Given the description of an element on the screen output the (x, y) to click on. 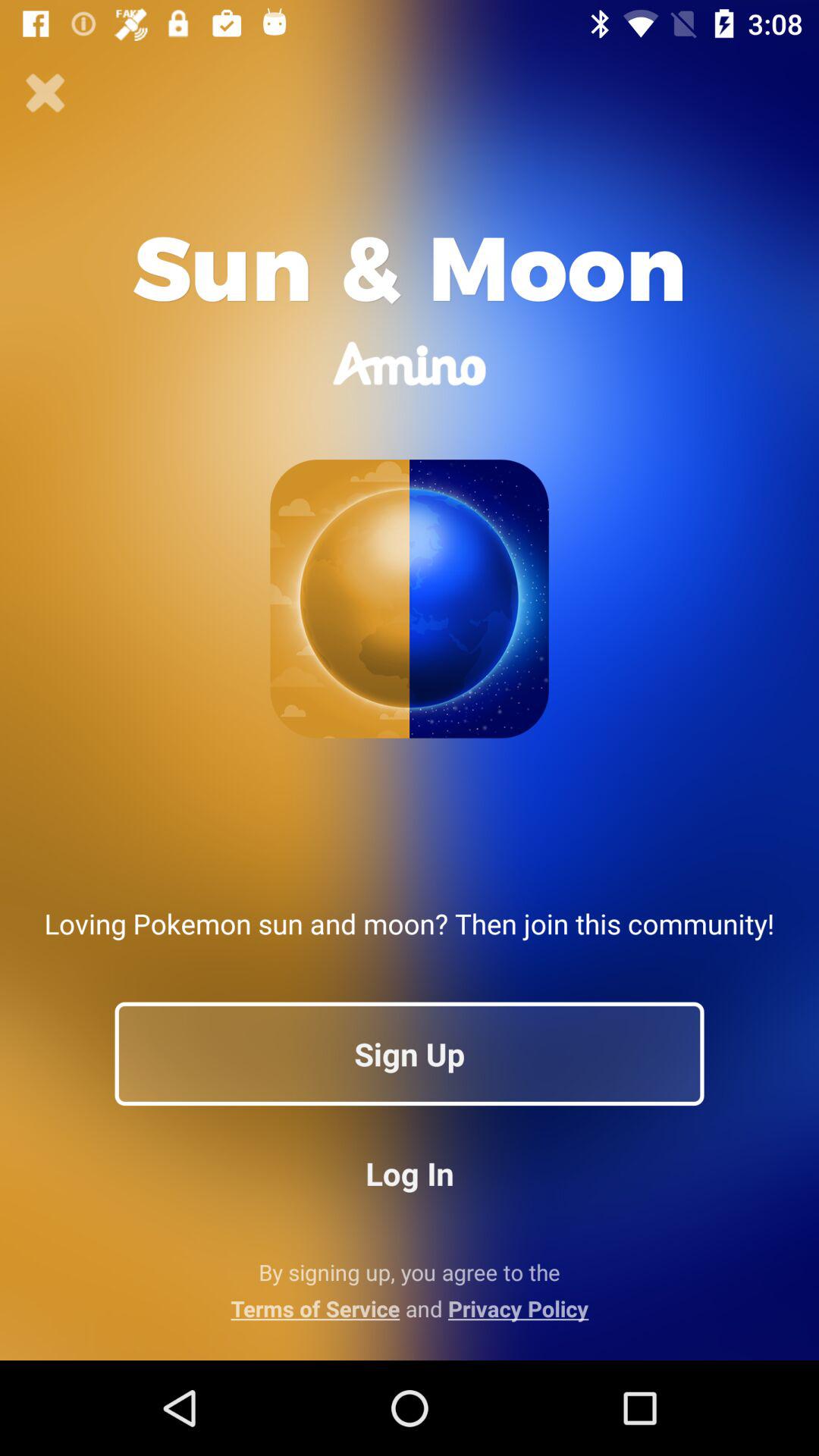
turn off the app below the by signing up icon (409, 1308)
